Given the description of an element on the screen output the (x, y) to click on. 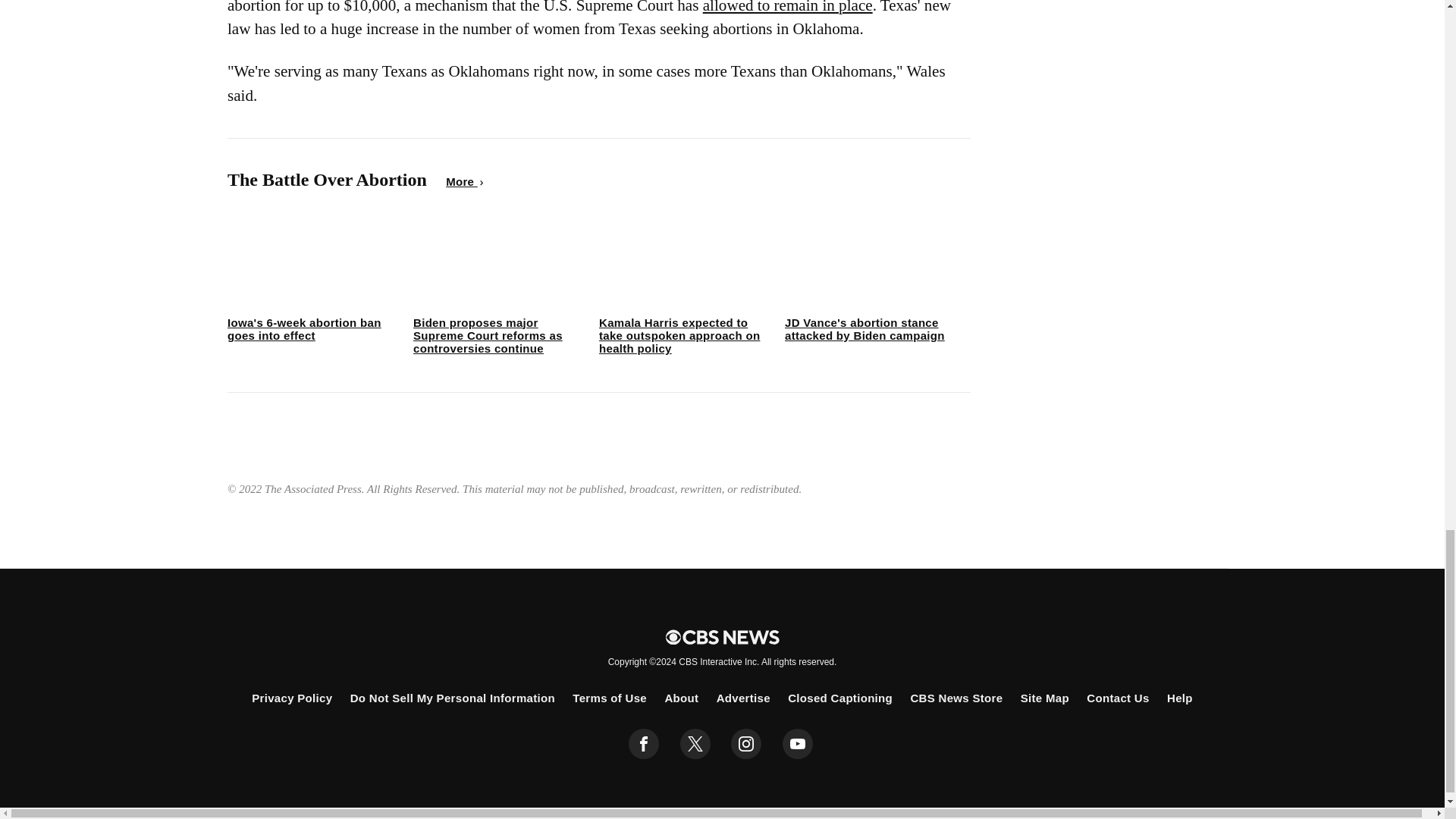
twitter (694, 743)
youtube (797, 743)
instagram (745, 743)
facebook (643, 743)
